Given the description of an element on the screen output the (x, y) to click on. 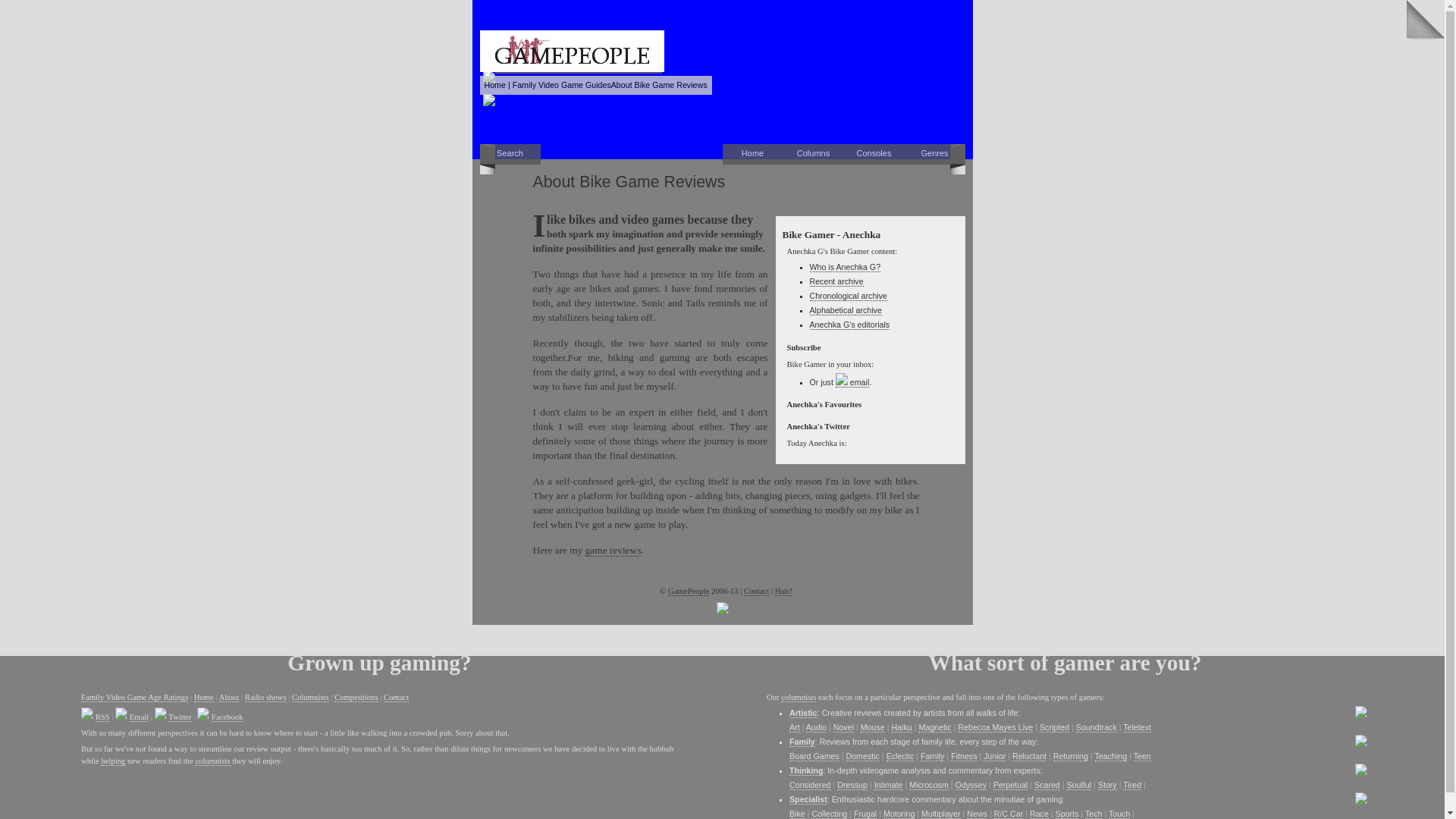
Search (509, 154)
Home (494, 84)
Home (752, 154)
Family Video Game Guides (561, 84)
Columns (813, 154)
Breadcrumb Trail (595, 85)
